Given the description of an element on the screen output the (x, y) to click on. 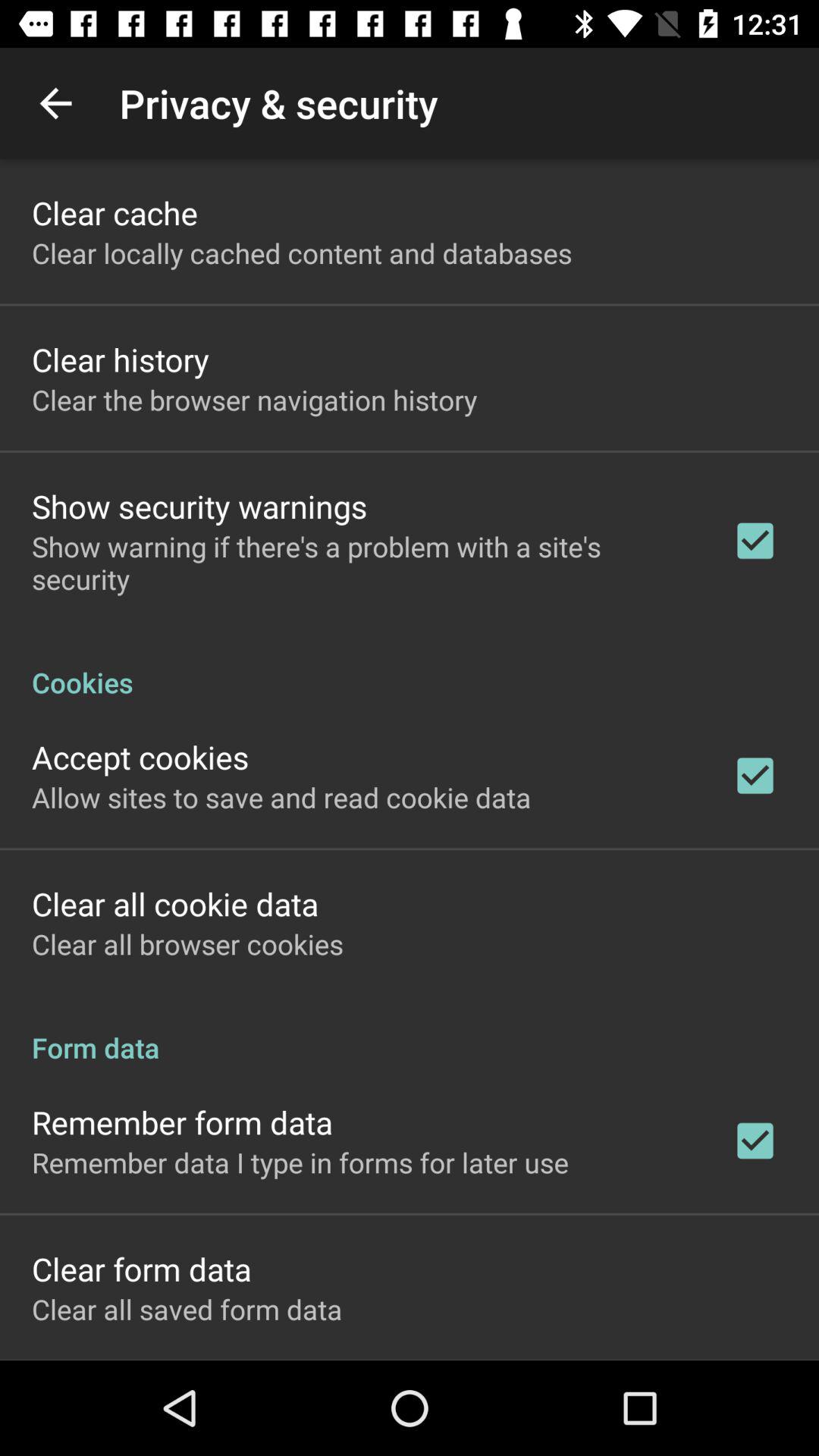
jump to accept cookies (140, 756)
